Given the description of an element on the screen output the (x, y) to click on. 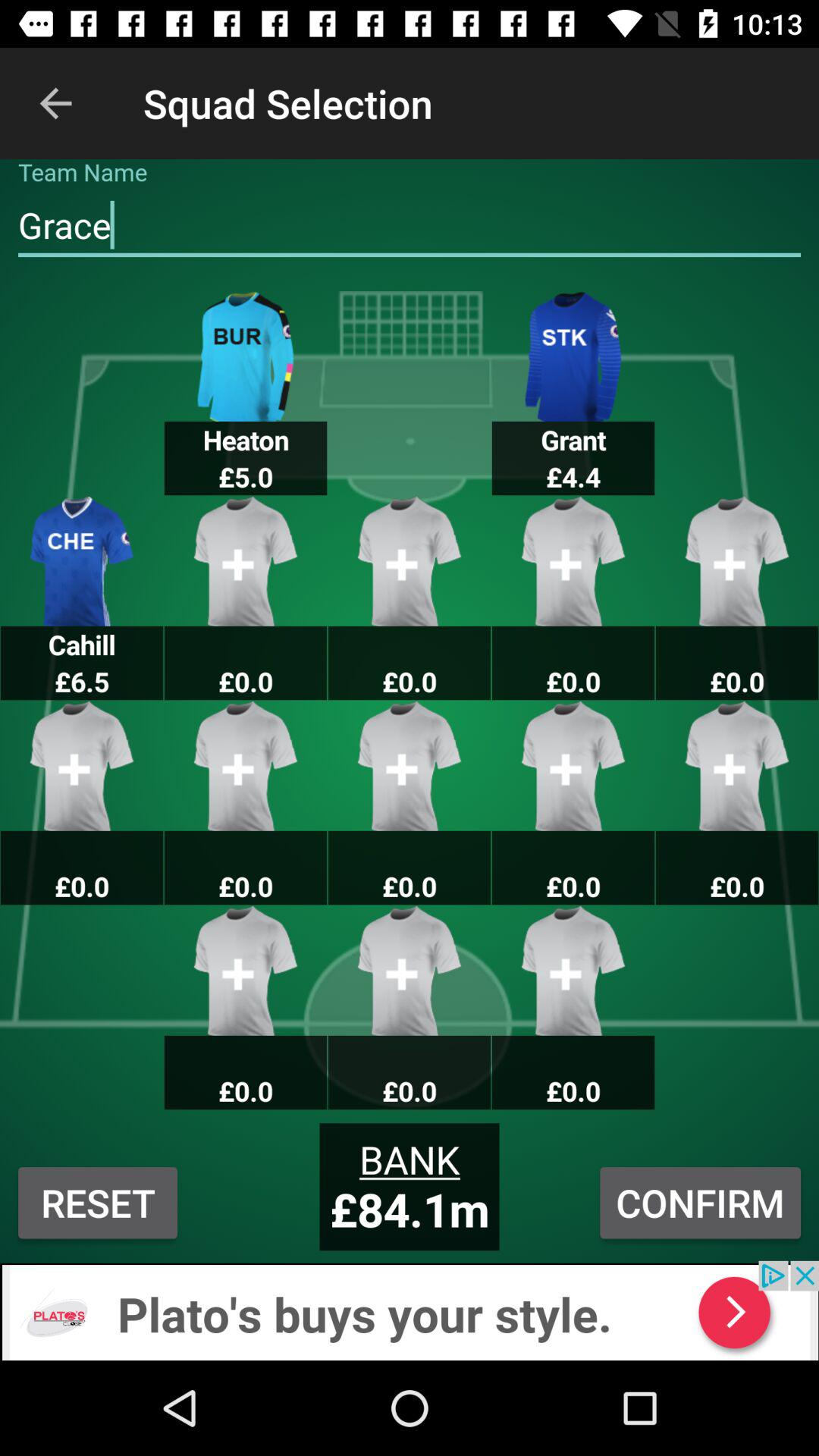
select the first image from the left which is in second line below grant (737, 766)
click on the image above the text bank (409, 970)
click on the last plus symbol grey color tshirt (573, 970)
